Given the description of an element on the screen output the (x, y) to click on. 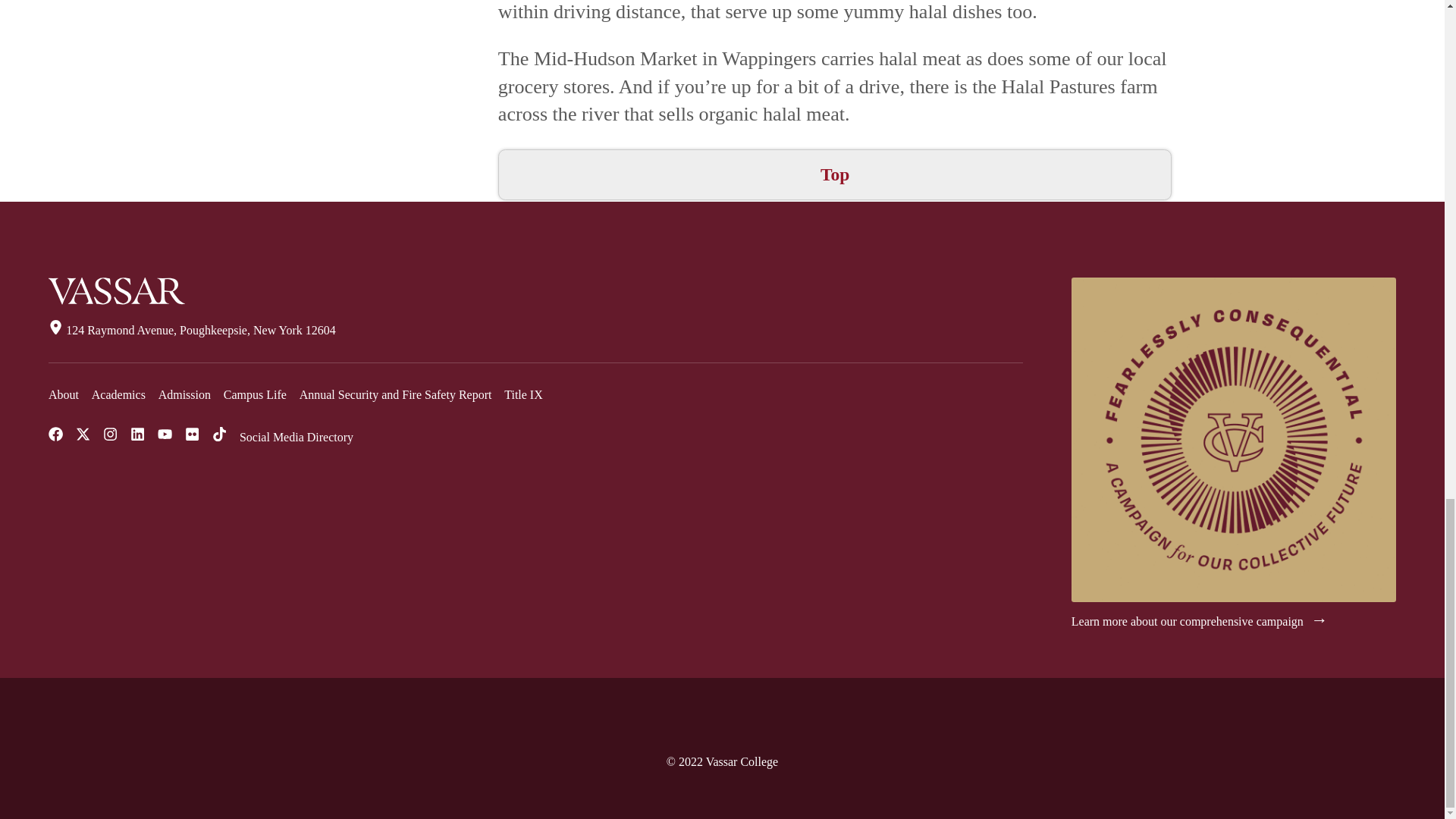
Vassar (116, 290)
